Given the description of an element on the screen output the (x, y) to click on. 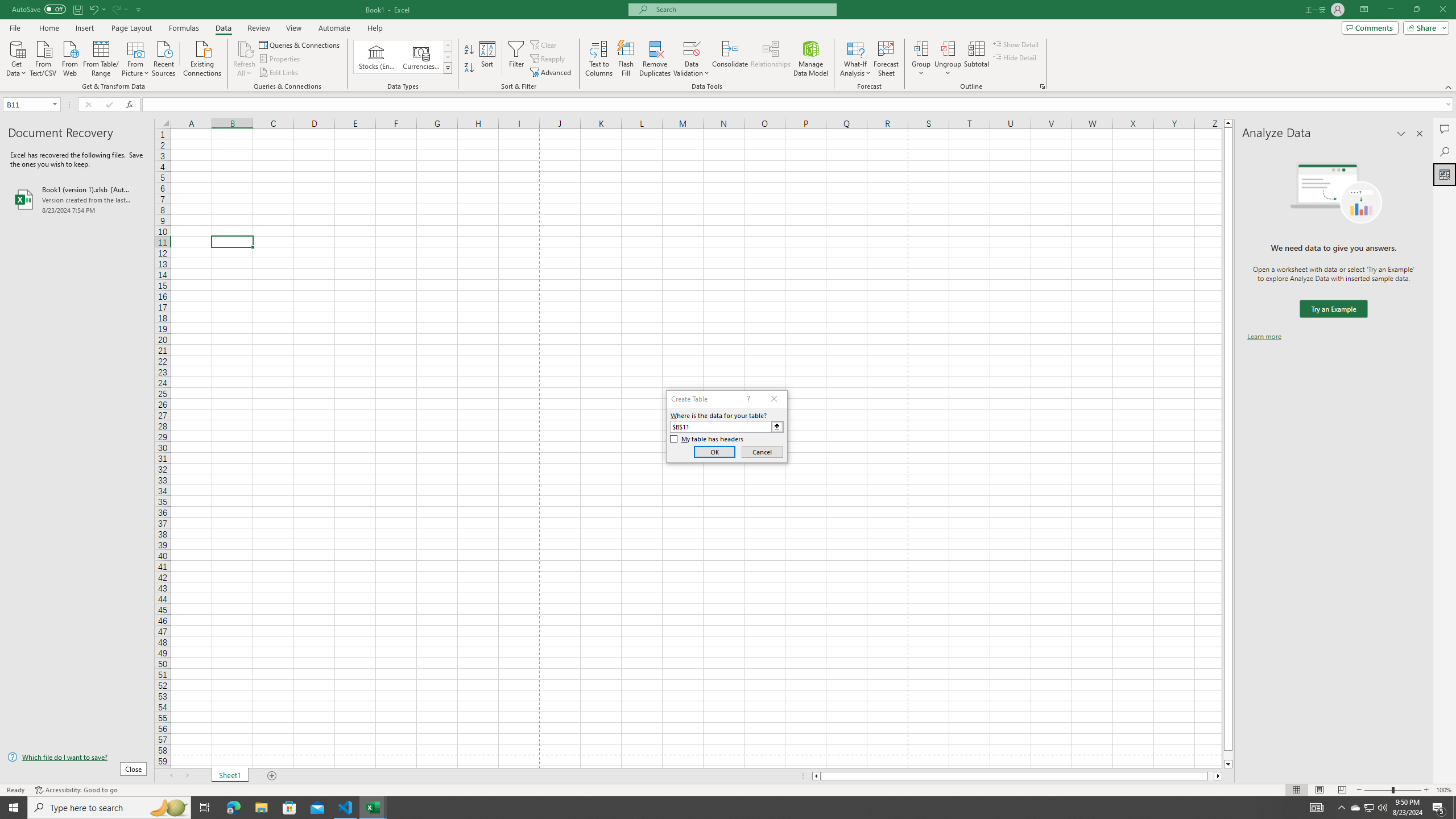
Get Data (16, 57)
Analyze Data (1444, 173)
Data Types (448, 67)
What-If Analysis (855, 58)
